Given the description of an element on the screen output the (x, y) to click on. 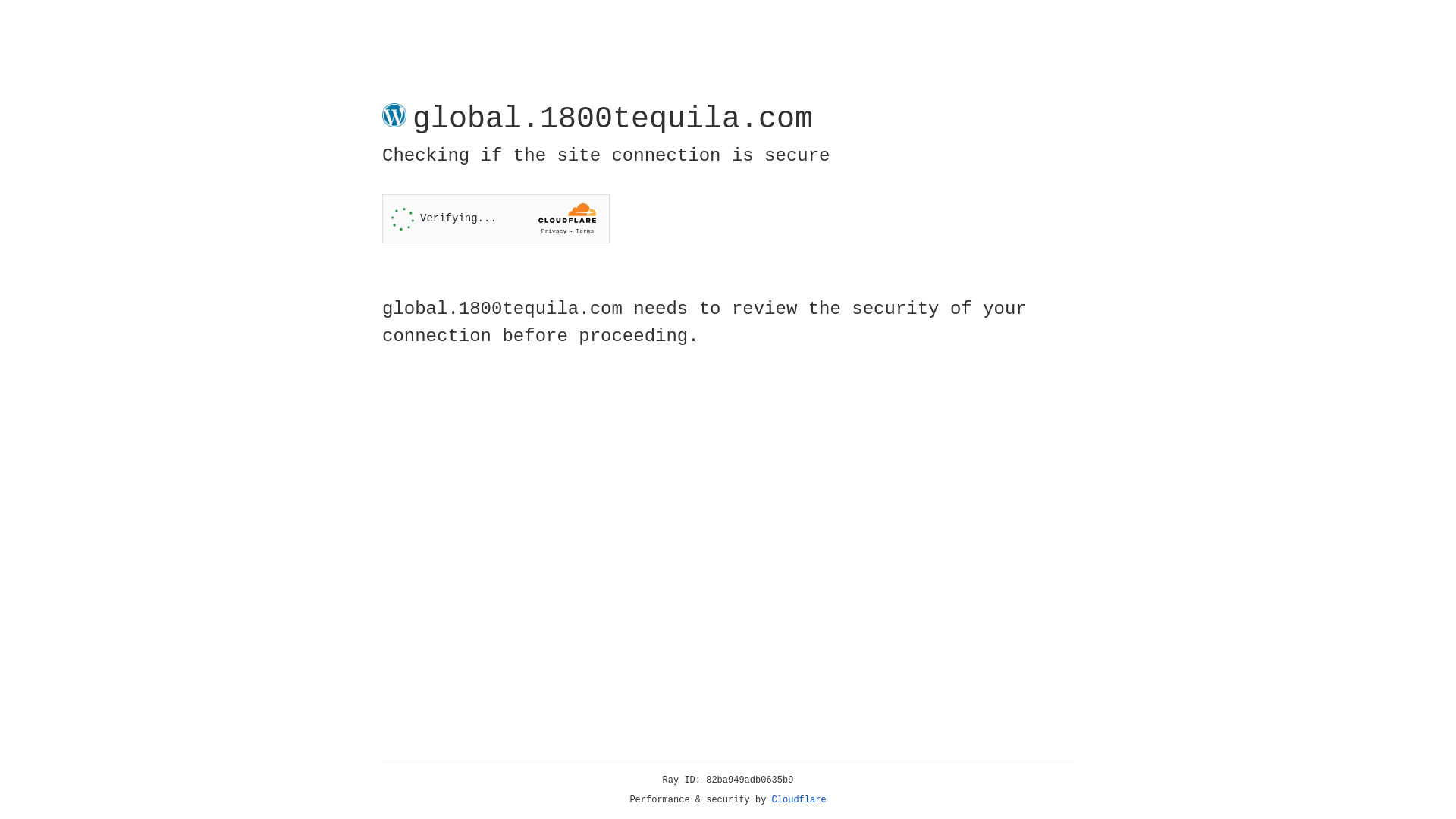
Cloudflare Element type: text (798, 799)
Widget containing a Cloudflare security challenge Element type: hover (495, 218)
